Given the description of an element on the screen output the (x, y) to click on. 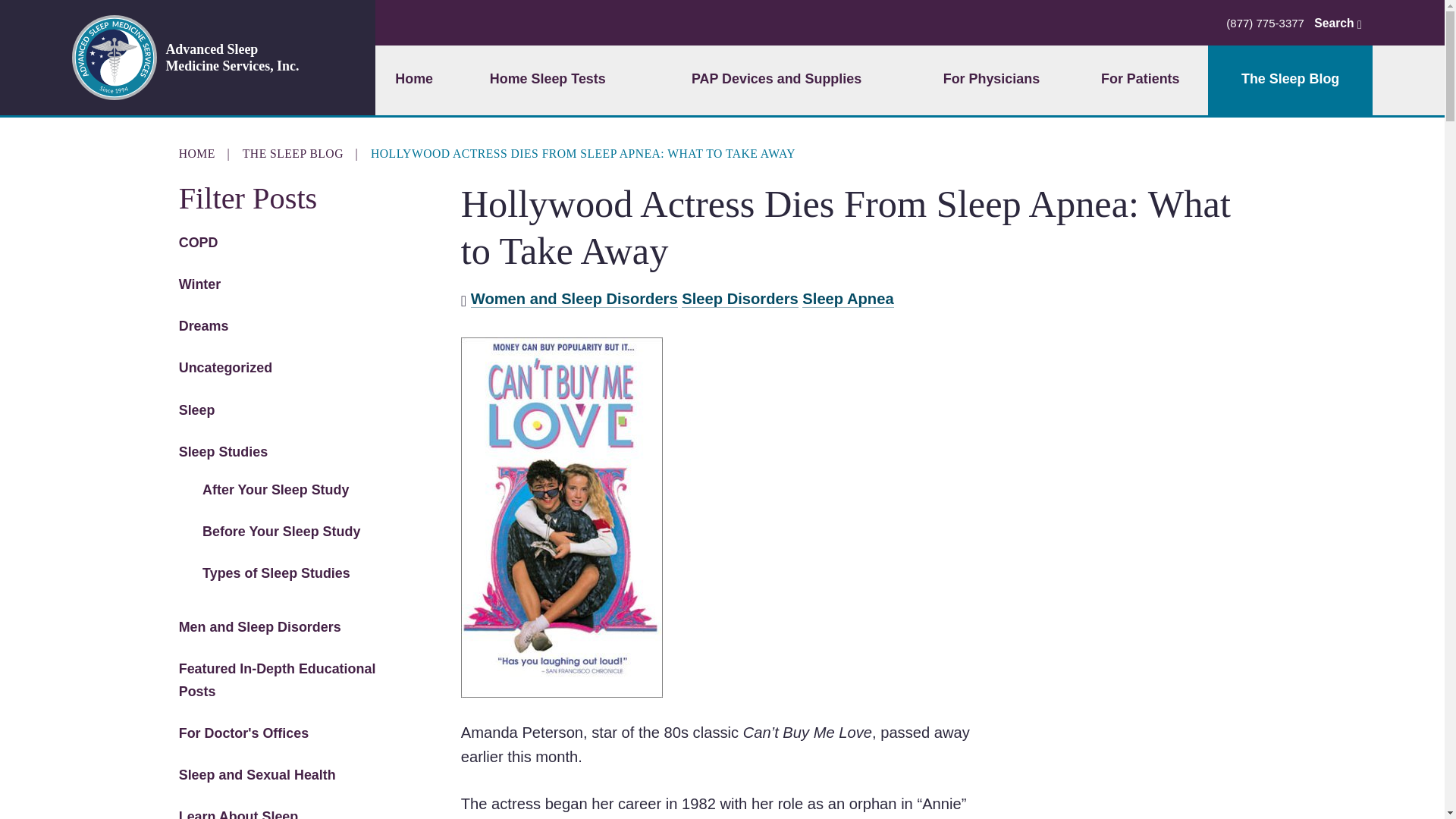
Advanced Sleep Medicine Services, Inc. (215, 57)
Advanced Sleep Medicine Services, Inc. (215, 57)
